Given the description of an element on the screen output the (x, y) to click on. 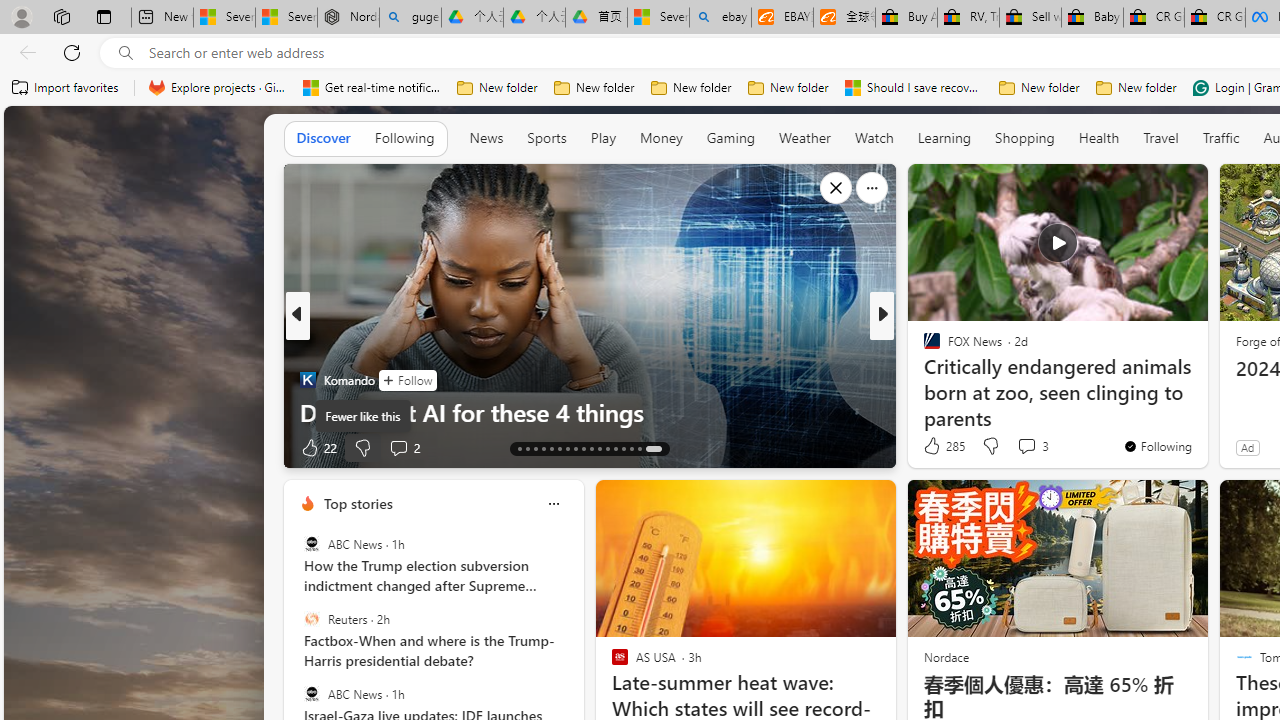
View comments 2 Comment (403, 447)
Traffic (1220, 137)
